Given the description of an element on the screen output the (x, y) to click on. 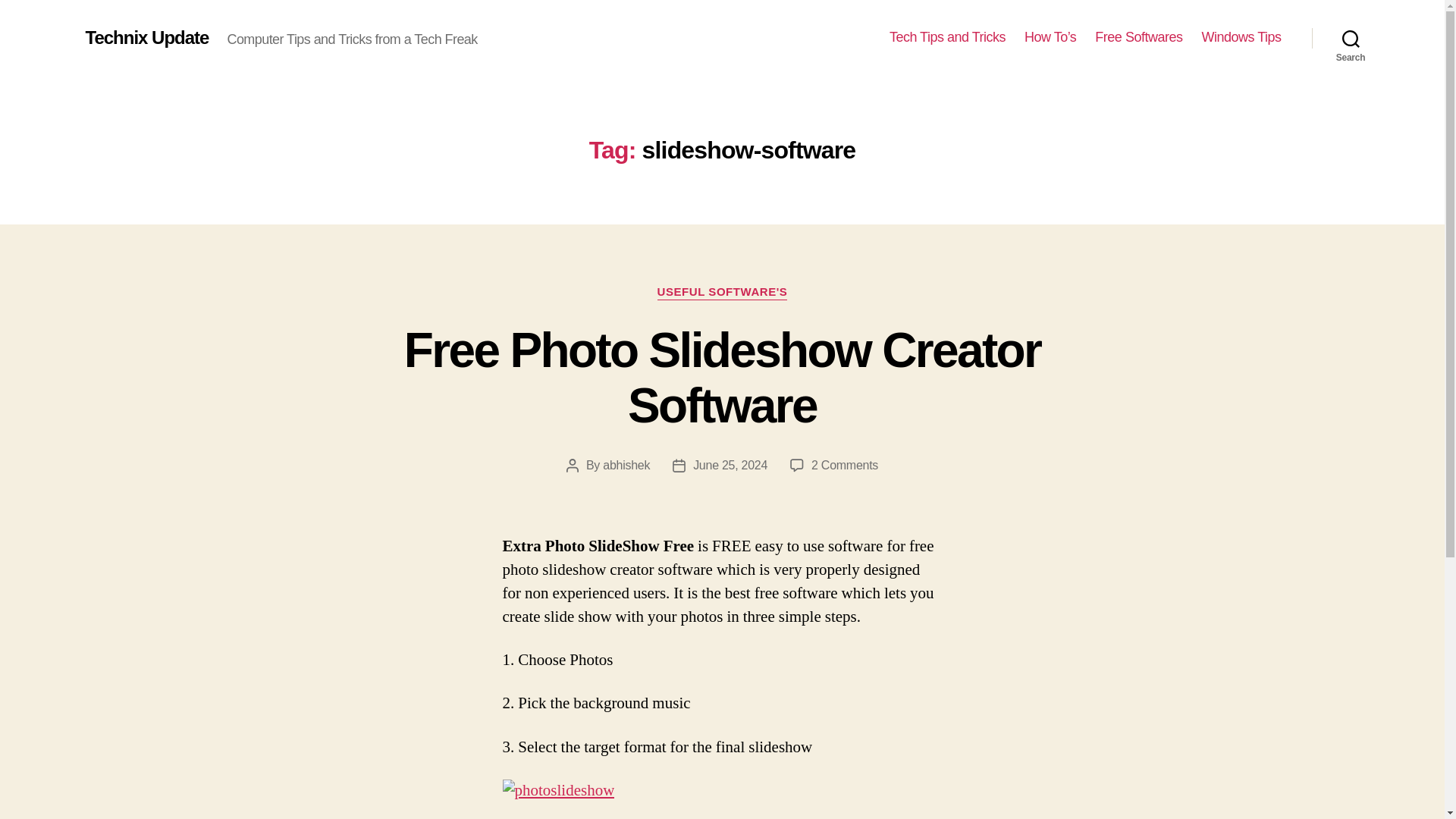
Free Photo Slideshow Creator Software (843, 464)
Technix Update (722, 377)
abhishek (146, 37)
Search (625, 464)
Free Softwares (1350, 37)
June 25, 2024 (1138, 37)
Windows Tips (730, 464)
photoslideshow (1241, 37)
Tech Tips and Tricks (558, 791)
USEFUL SOFTWARE'S (947, 37)
